Given the description of an element on the screen output the (x, y) to click on. 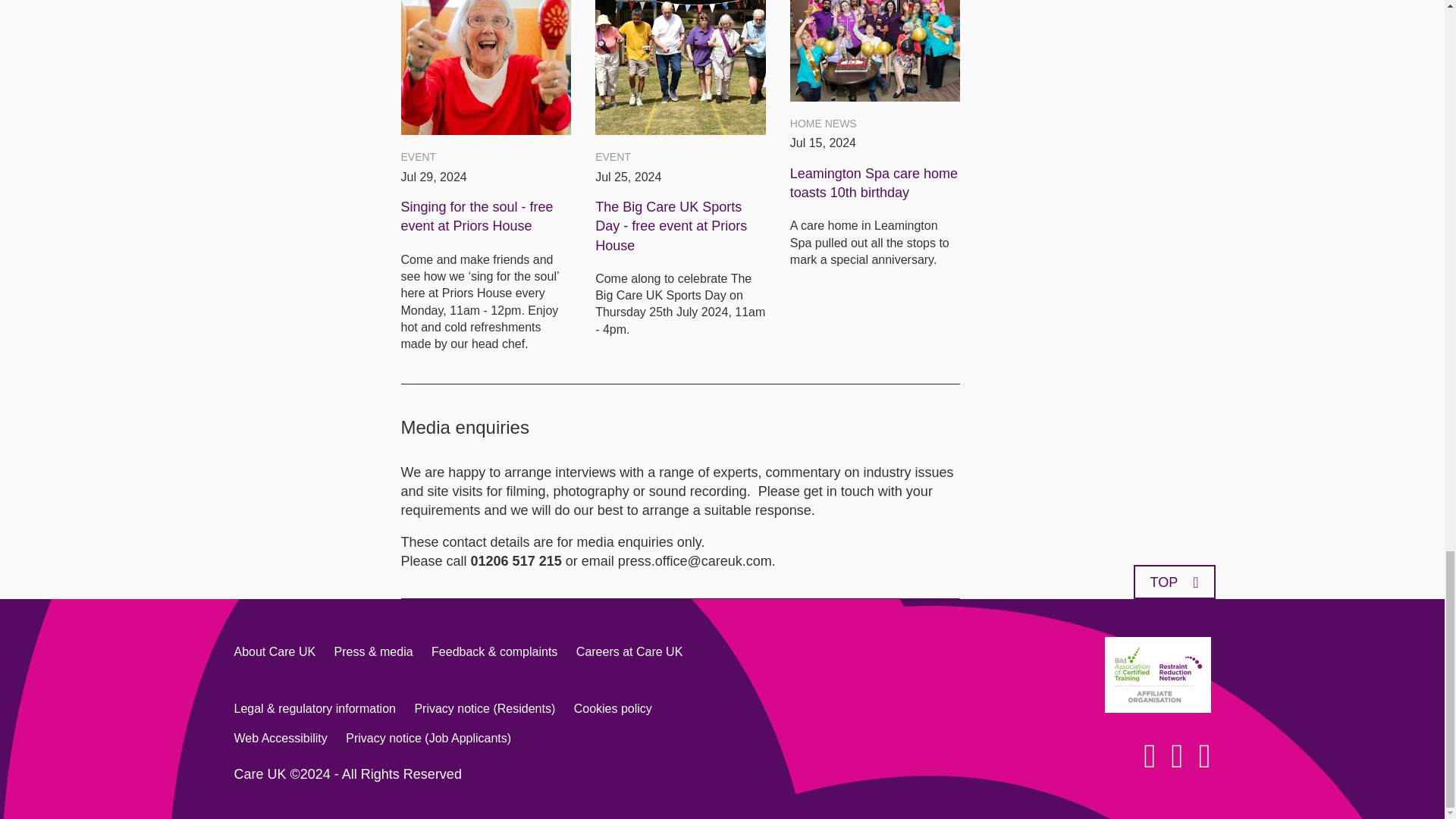
TOP (1173, 581)
